Given the description of an element on the screen output the (x, y) to click on. 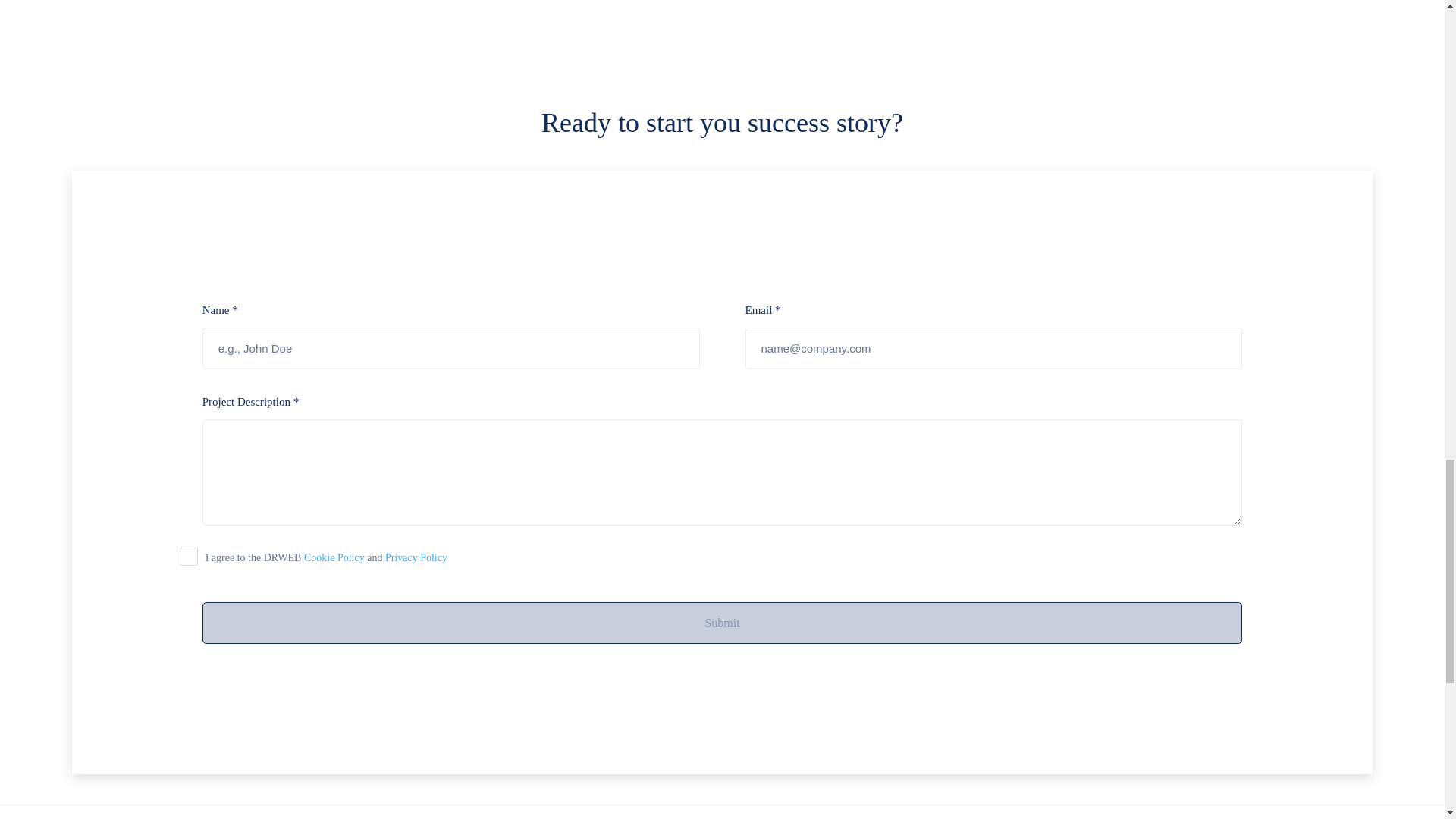
1 (188, 556)
Submit (722, 622)
